Given the description of an element on the screen output the (x, y) to click on. 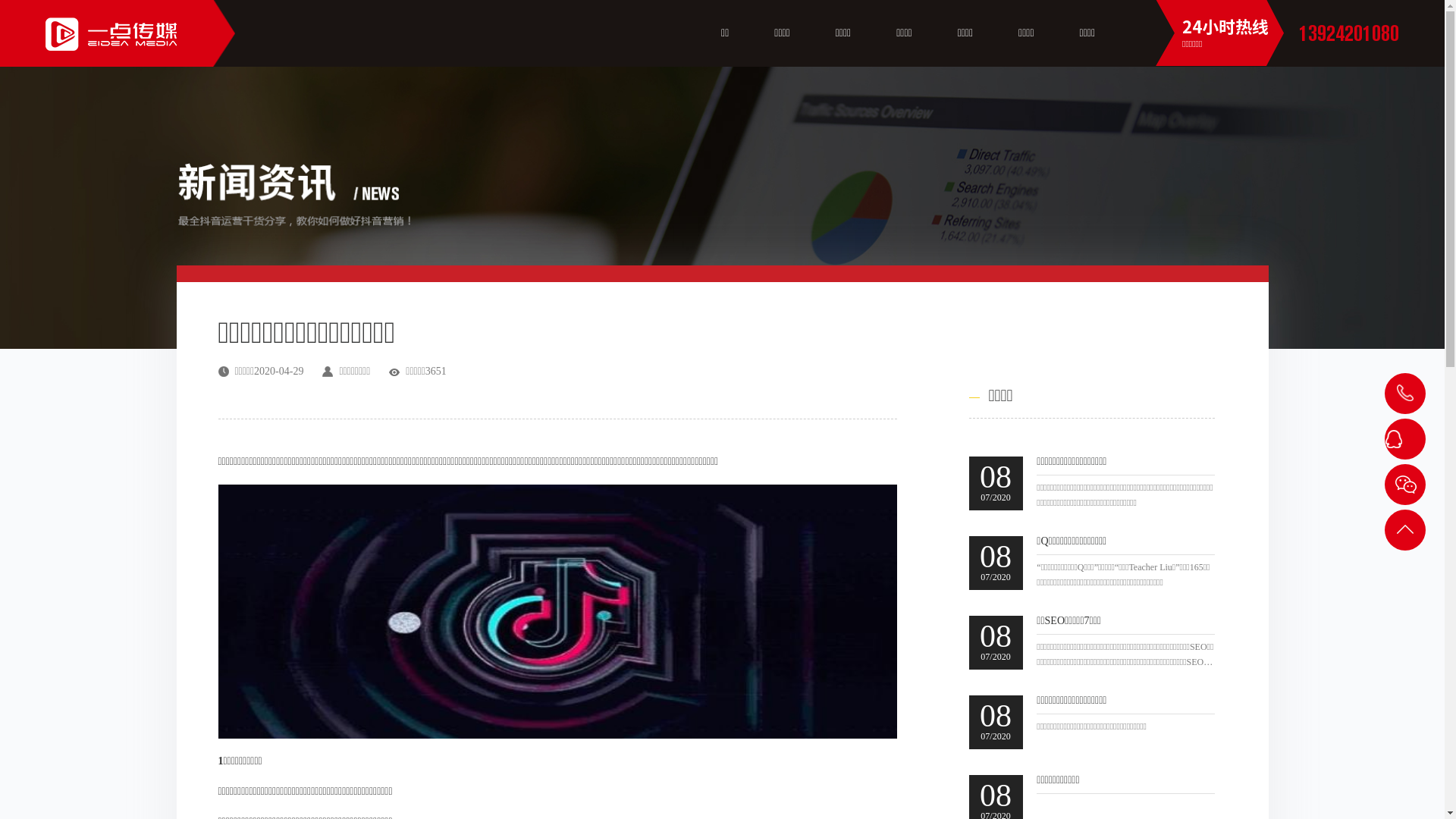
13924201080 Element type: text (1349, 32)
